Given the description of an element on the screen output the (x, y) to click on. 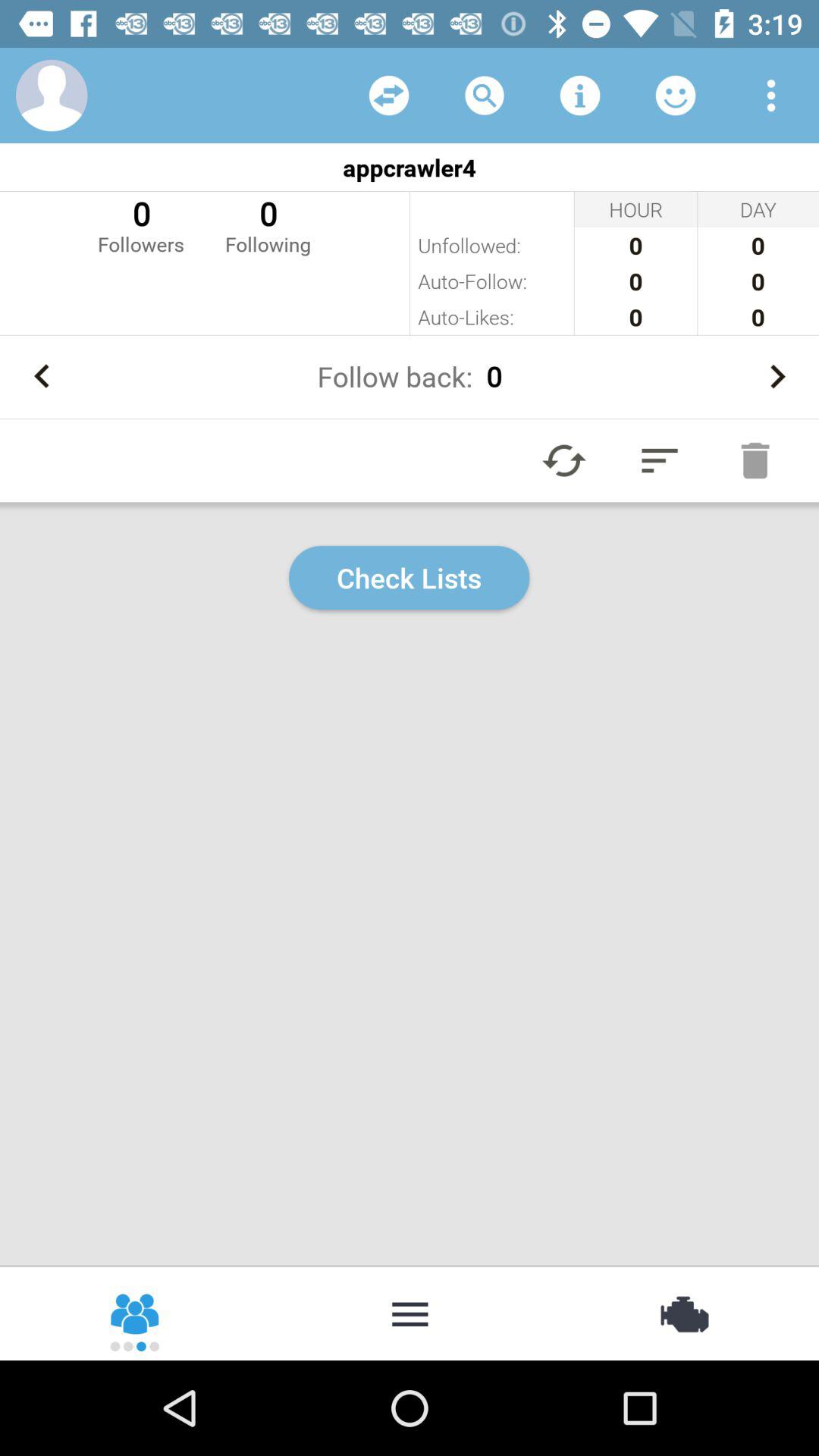
go back (41, 376)
